Given the description of an element on the screen output the (x, y) to click on. 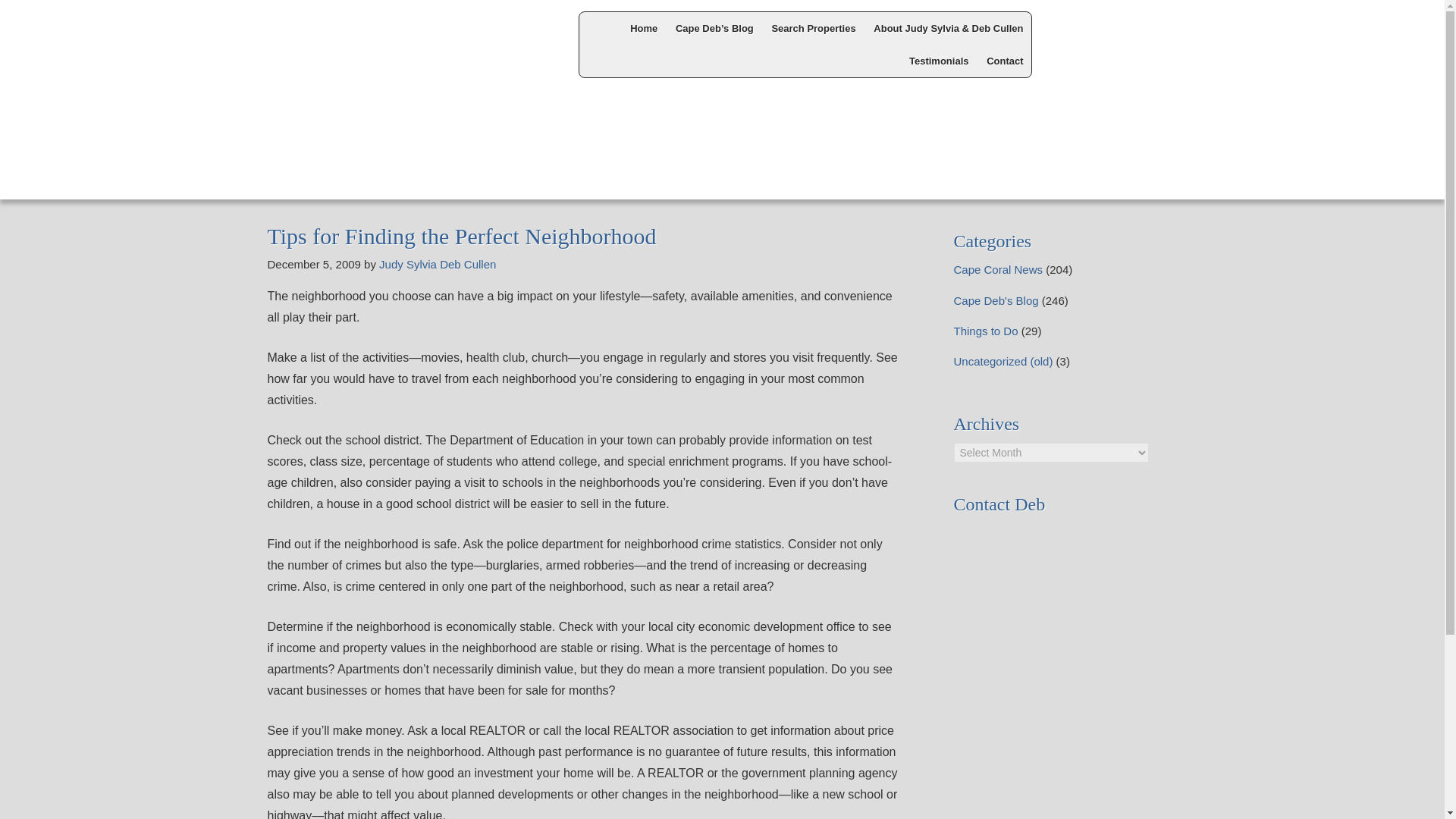
Facebook (1064, 26)
Things to Do (985, 330)
Cape Coral News (998, 269)
YouTube (1145, 26)
Cape Deb's Blog (996, 300)
Twitter (1104, 26)
Contact (1004, 60)
Testimonials (938, 60)
Search Properties (812, 28)
Judy Sylvia Deb Cullen (437, 264)
Home (644, 28)
Cape Deb Realtor (385, 47)
